Given the description of an element on the screen output the (x, y) to click on. 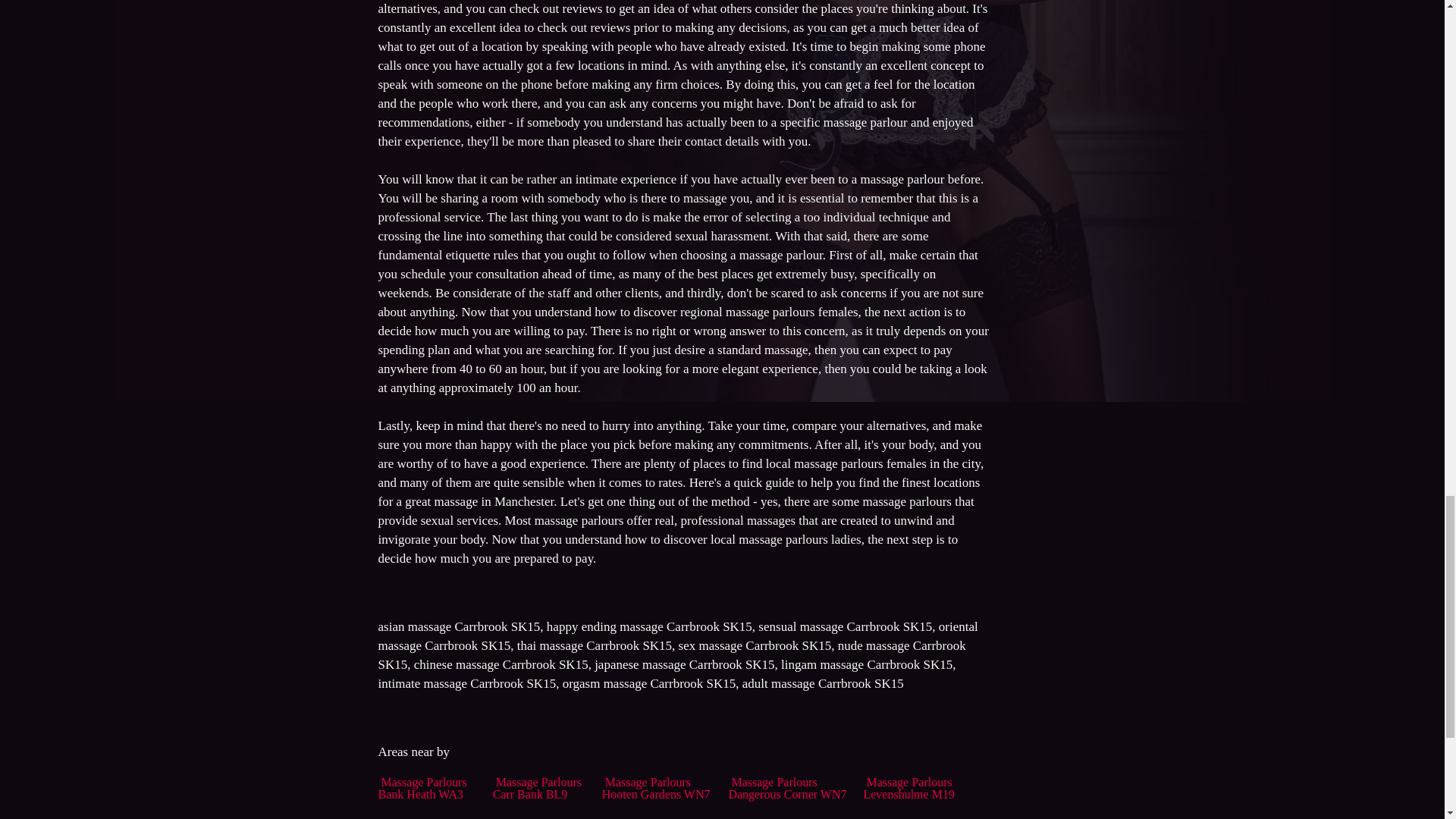
Massage Parlours Carr Bank BL9 (536, 787)
Massage Parlours Dangerous Corner WN7 (786, 787)
Massage Parlours Levenshulme M19 (908, 787)
Massage Parlours Hooten Gardens WN7 (656, 787)
Massage Parlours Bank Heath WA3 (421, 787)
